Given the description of an element on the screen output the (x, y) to click on. 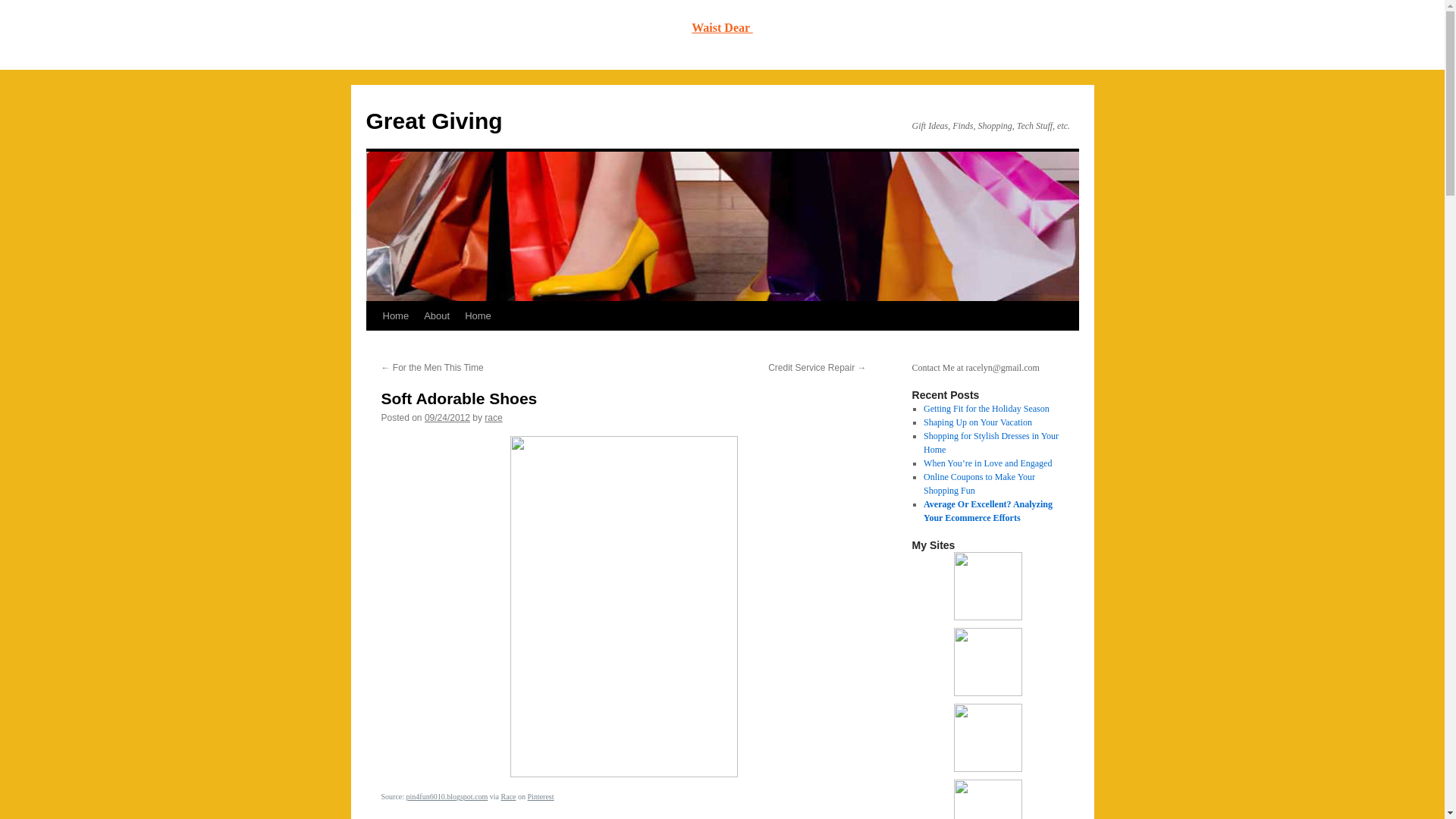
Getting Fit for the Holiday Season (986, 408)
Race (508, 796)
Great Giving (433, 120)
Home (478, 316)
About (436, 316)
Average Or Excellent? Analyzing Your Ecommerce Efforts (987, 510)
18:32 (447, 417)
Online Coupons to Make Your Shopping Fun (979, 483)
race (493, 417)
Shaping Up on Your Vacation (977, 421)
